Given the description of an element on the screen output the (x, y) to click on. 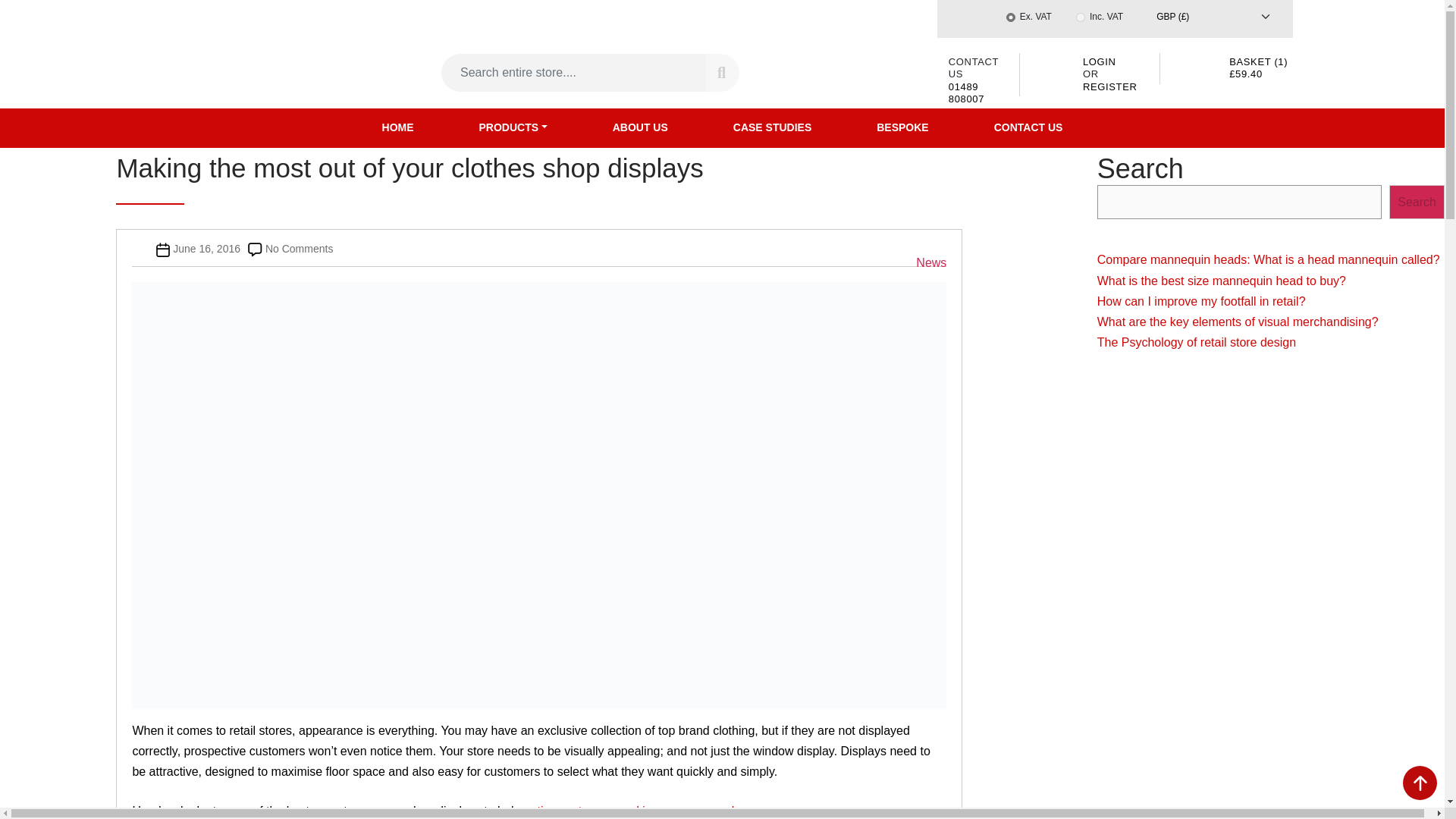
LOGIN (1099, 61)
Customer Login (1099, 61)
INC (1079, 17)
01489 808007 (966, 92)
REGISTER (1110, 85)
Basket (1257, 67)
PRODUCTS (513, 128)
Register Now (1110, 85)
EXC (1010, 17)
My Account (1056, 67)
